Given the description of an element on the screen output the (x, y) to click on. 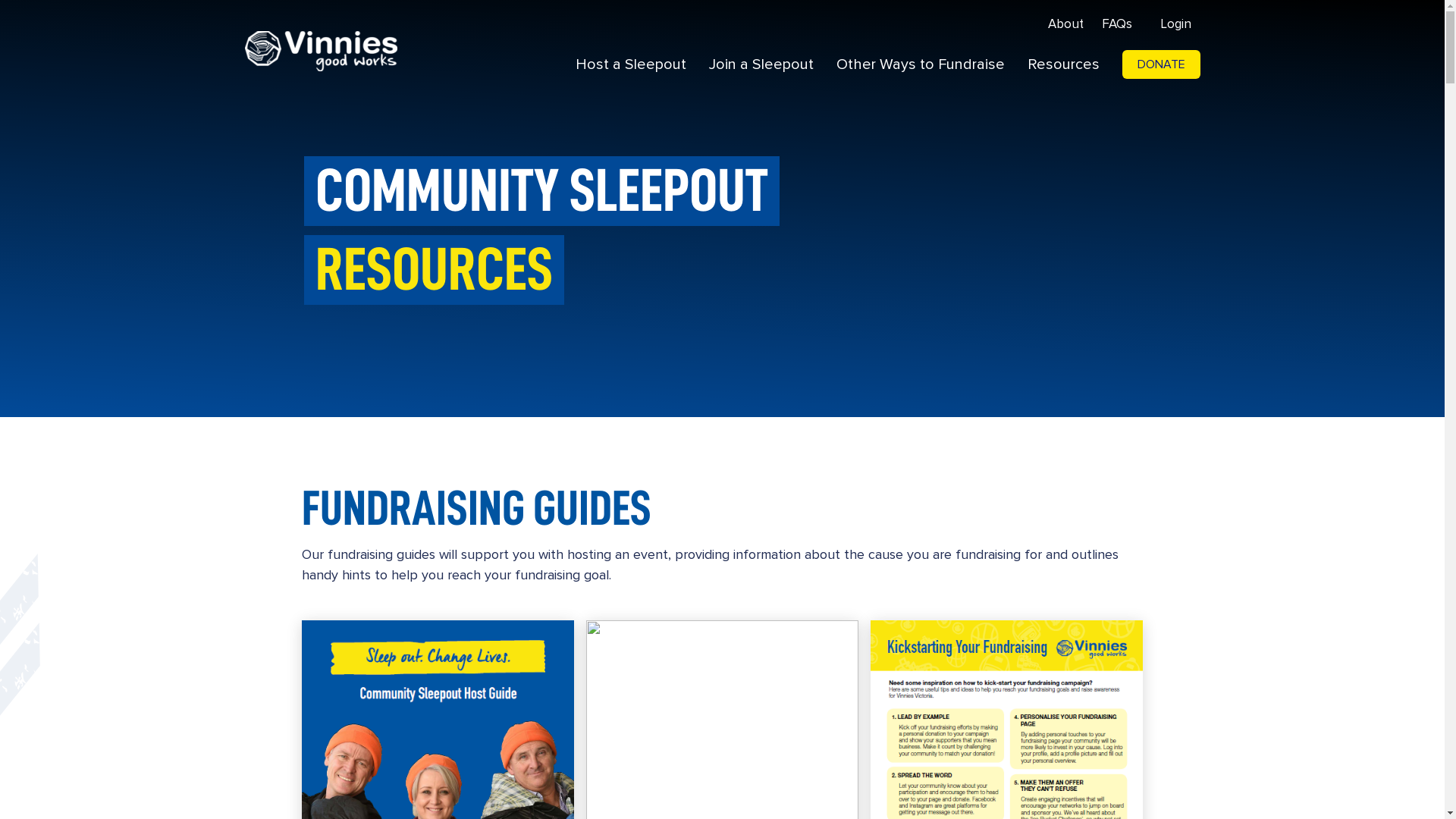
Login Element type: text (1173, 24)
FAQs Element type: text (1116, 24)
Resources Element type: text (1063, 64)
About Element type: text (1065, 24)
Other Ways to Fundraise Element type: text (920, 64)
Host a Sleepout Element type: text (630, 64)
Join a Sleepout Element type: text (761, 64)
DONATE Element type: text (1161, 64)
